Given the description of an element on the screen output the (x, y) to click on. 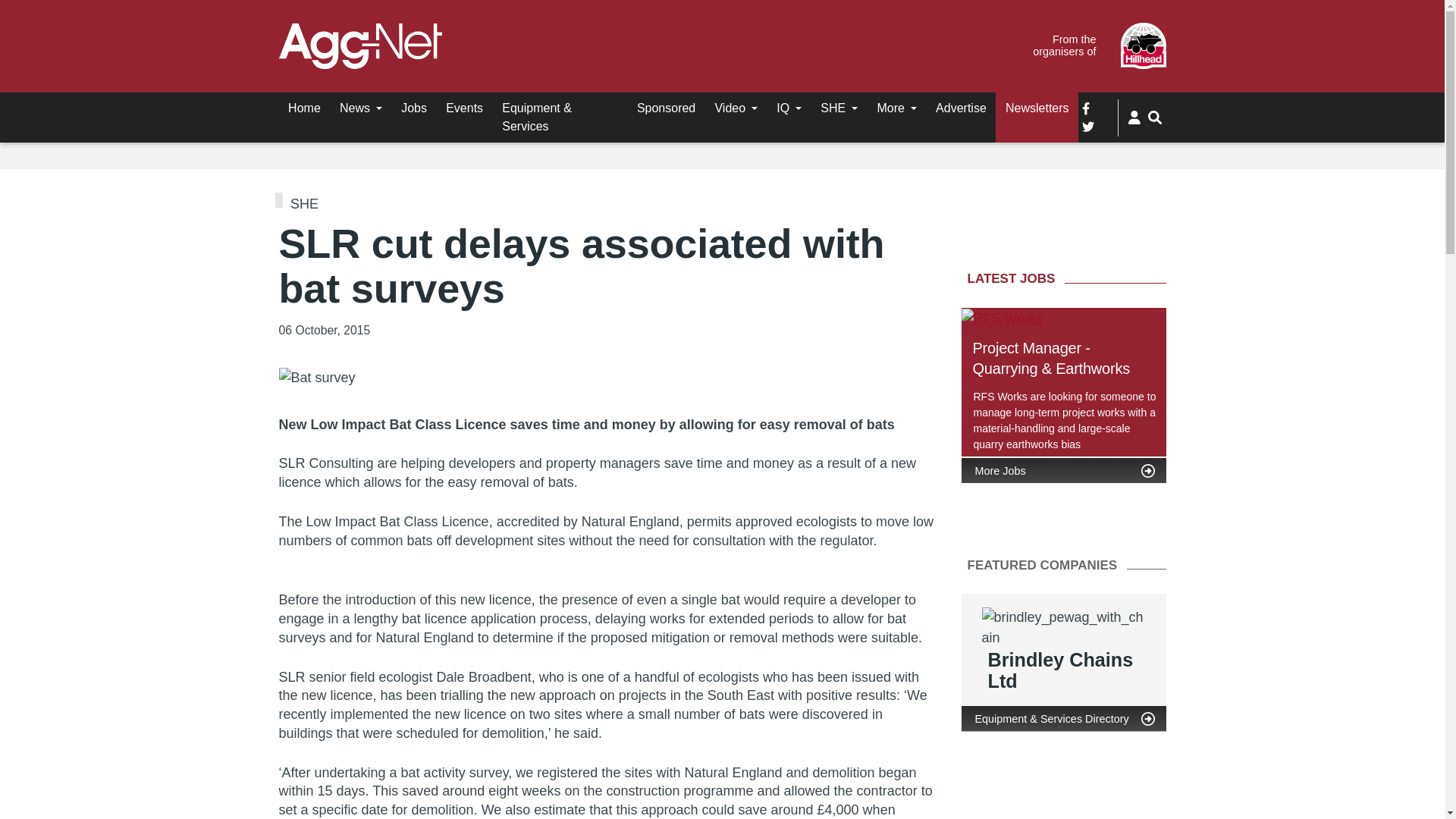
More (896, 108)
News (360, 108)
Newsletters (1036, 108)
Events (464, 108)
Sponsored (665, 108)
Home (304, 108)
Jobs (413, 108)
Advertise (960, 108)
SHE (838, 108)
Video (735, 108)
